Given the description of an element on the screen output the (x, y) to click on. 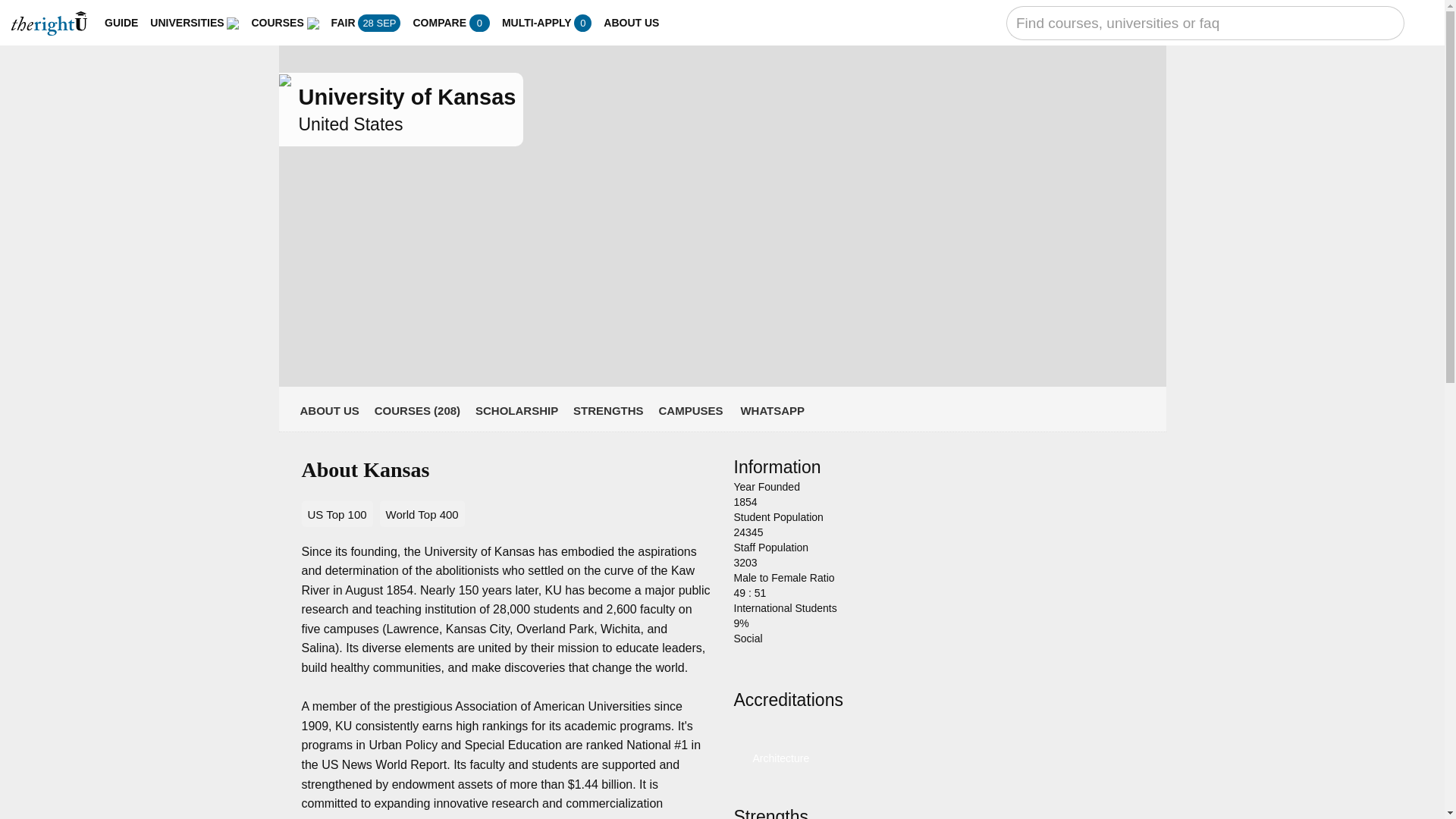
STRENGTHS (608, 410)
CAMPUSES (690, 410)
ABOUT US (630, 22)
WHATSAPP (771, 410)
Overseas Education Consultants - Find the Right University (49, 23)
Drop us a Whatsapp message (771, 410)
SCHOLARSHIP (516, 410)
GUIDE (121, 22)
